Given the description of an element on the screen output the (x, y) to click on. 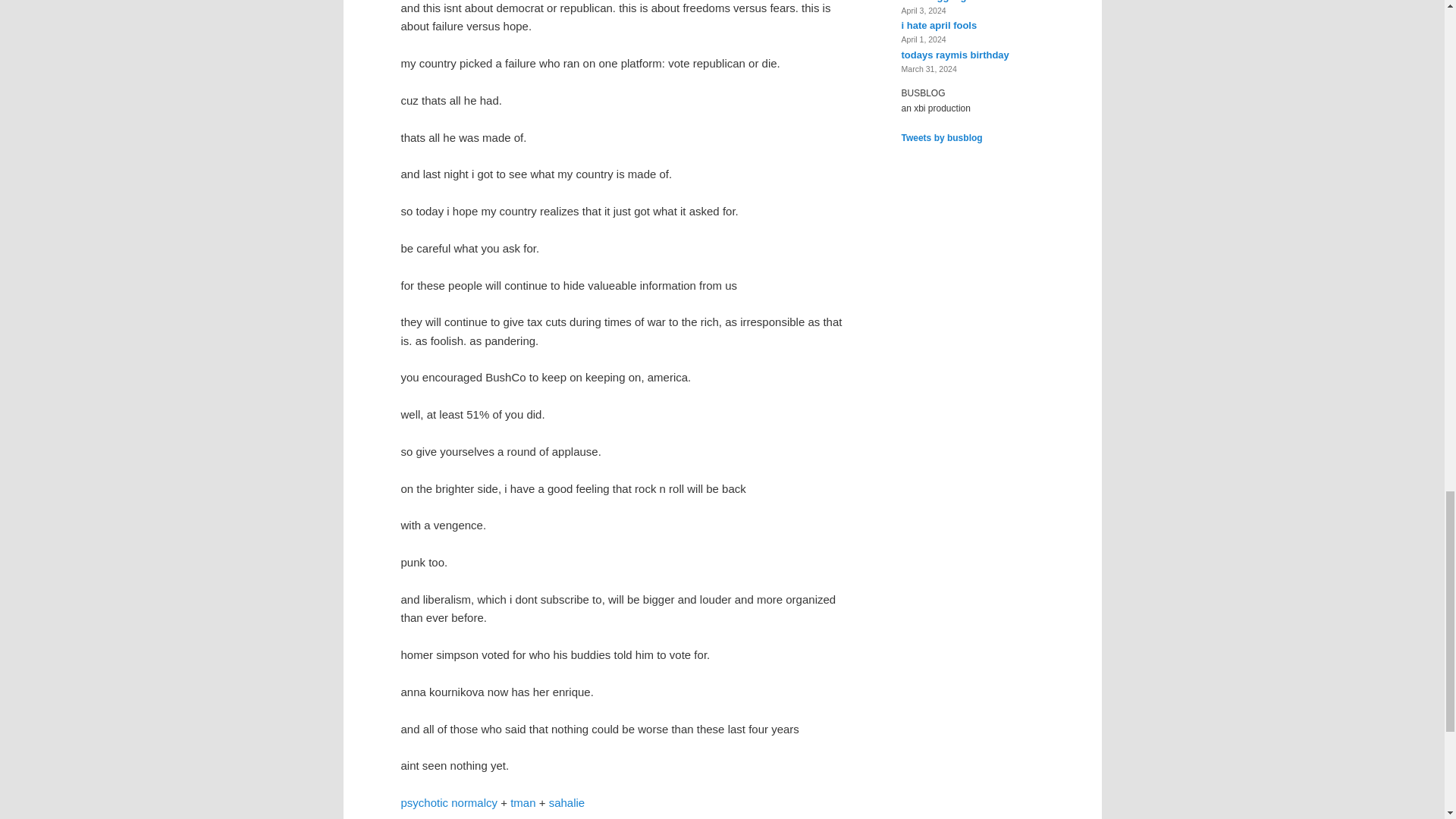
tman (523, 802)
psychotic normalcy (448, 802)
sahalie (566, 802)
